Given the description of an element on the screen output the (x, y) to click on. 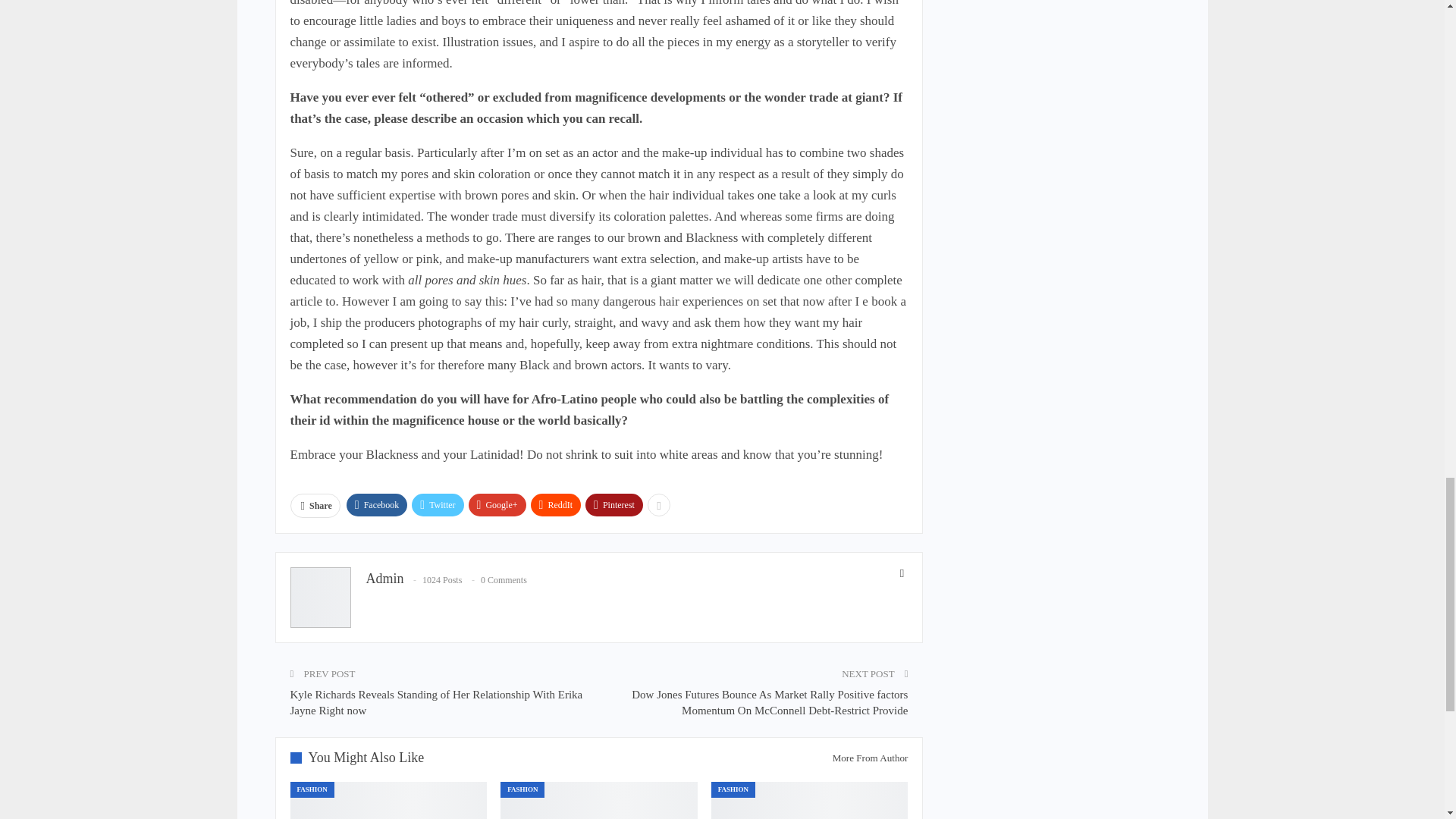
Twitter (437, 504)
Facebook (376, 504)
ReddIt (555, 504)
Pinterest (614, 504)
Admin (384, 578)
